Given the description of an element on the screen output the (x, y) to click on. 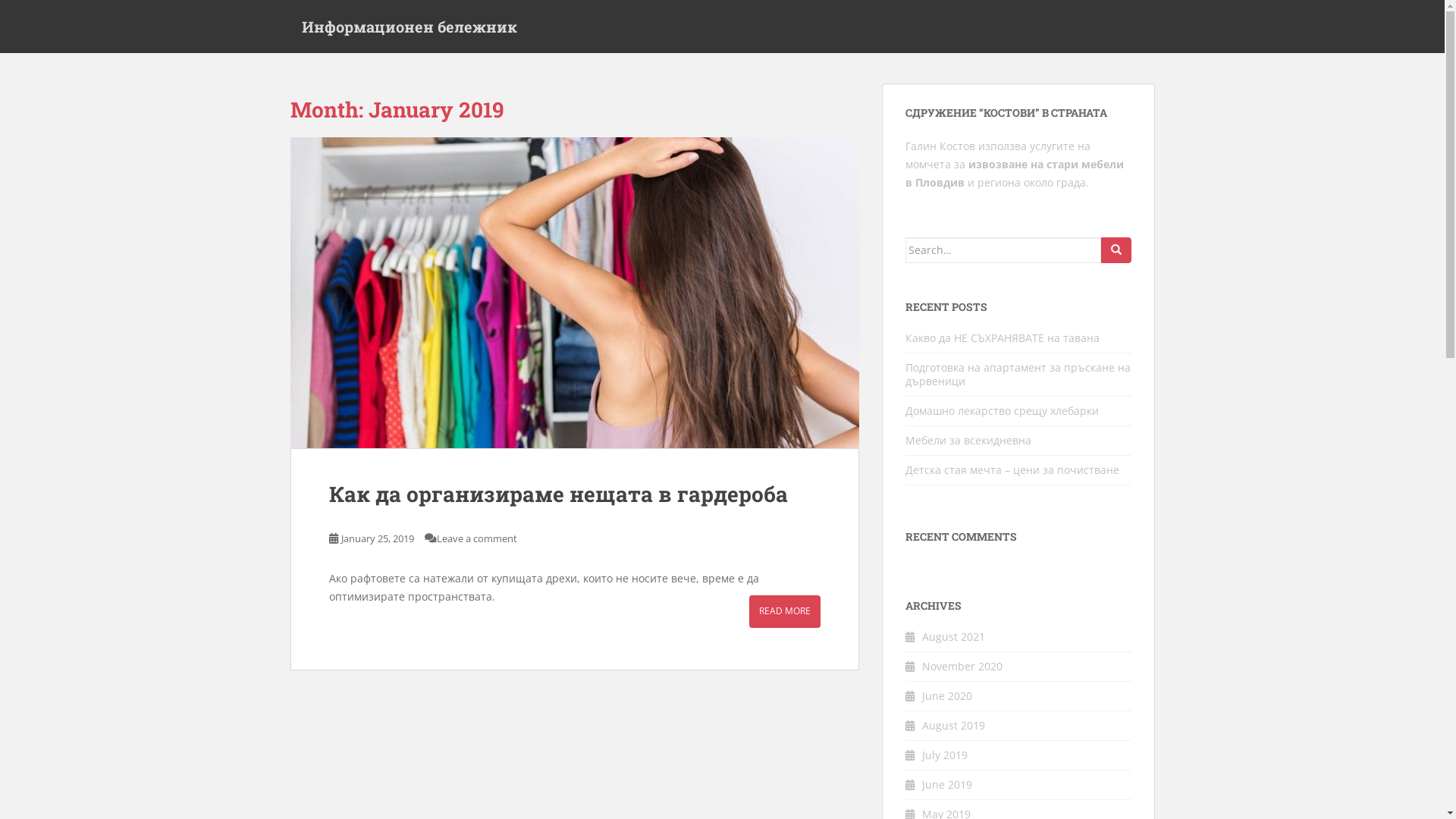
June 2019 Element type: text (947, 784)
November 2020 Element type: text (962, 665)
January 25, 2019 Element type: text (377, 538)
July 2019 Element type: text (944, 754)
August 2021 Element type: text (953, 636)
Leave a comment Element type: text (476, 538)
Search for: Element type: hover (1003, 250)
August 2019 Element type: text (953, 725)
Search Element type: text (1116, 250)
READ MORE Element type: text (784, 611)
June 2020 Element type: text (947, 695)
